Given the description of an element on the screen output the (x, y) to click on. 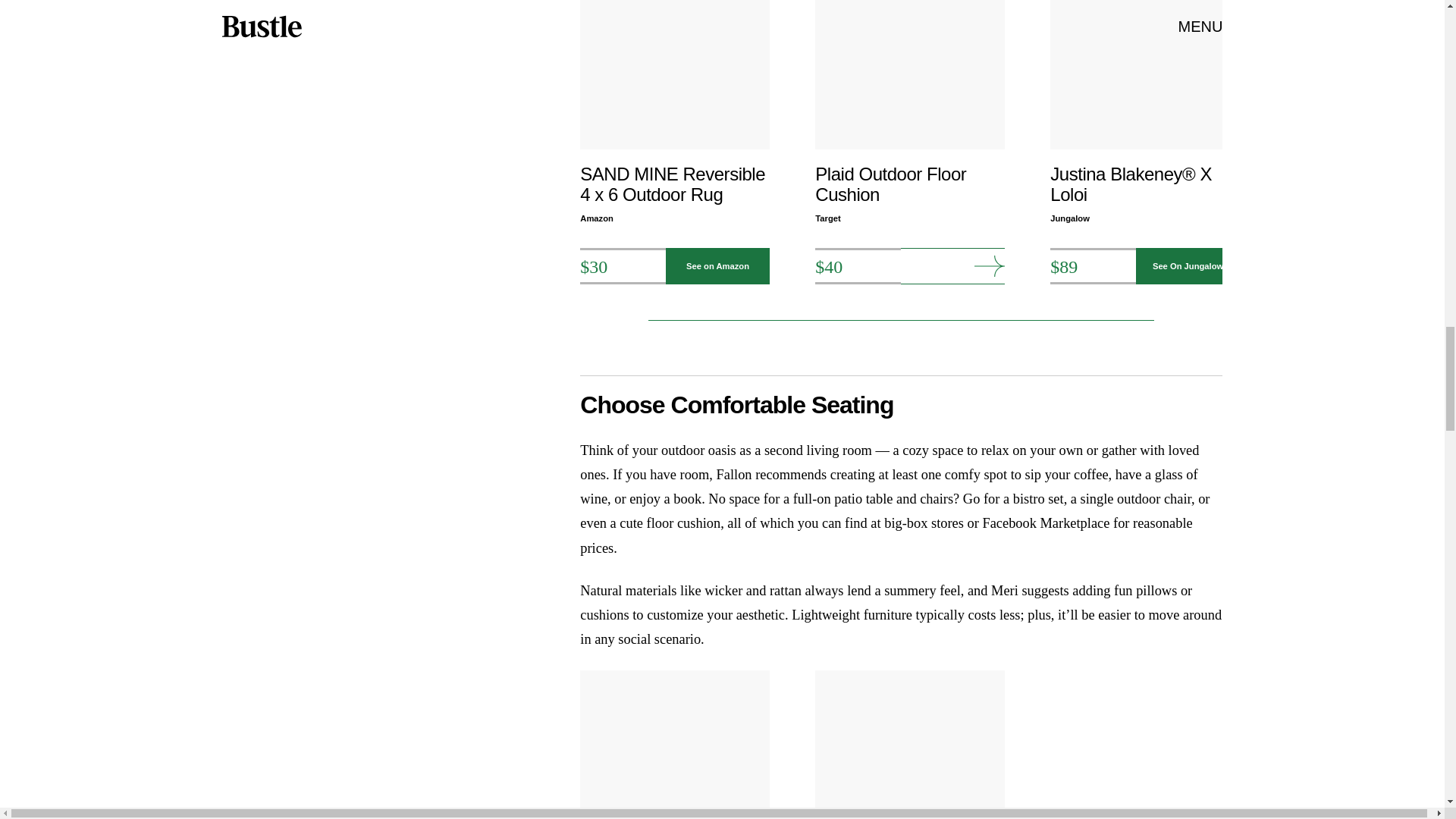
See on Amazon (717, 266)
See On Jungalow (1187, 266)
